Given the description of an element on the screen output the (x, y) to click on. 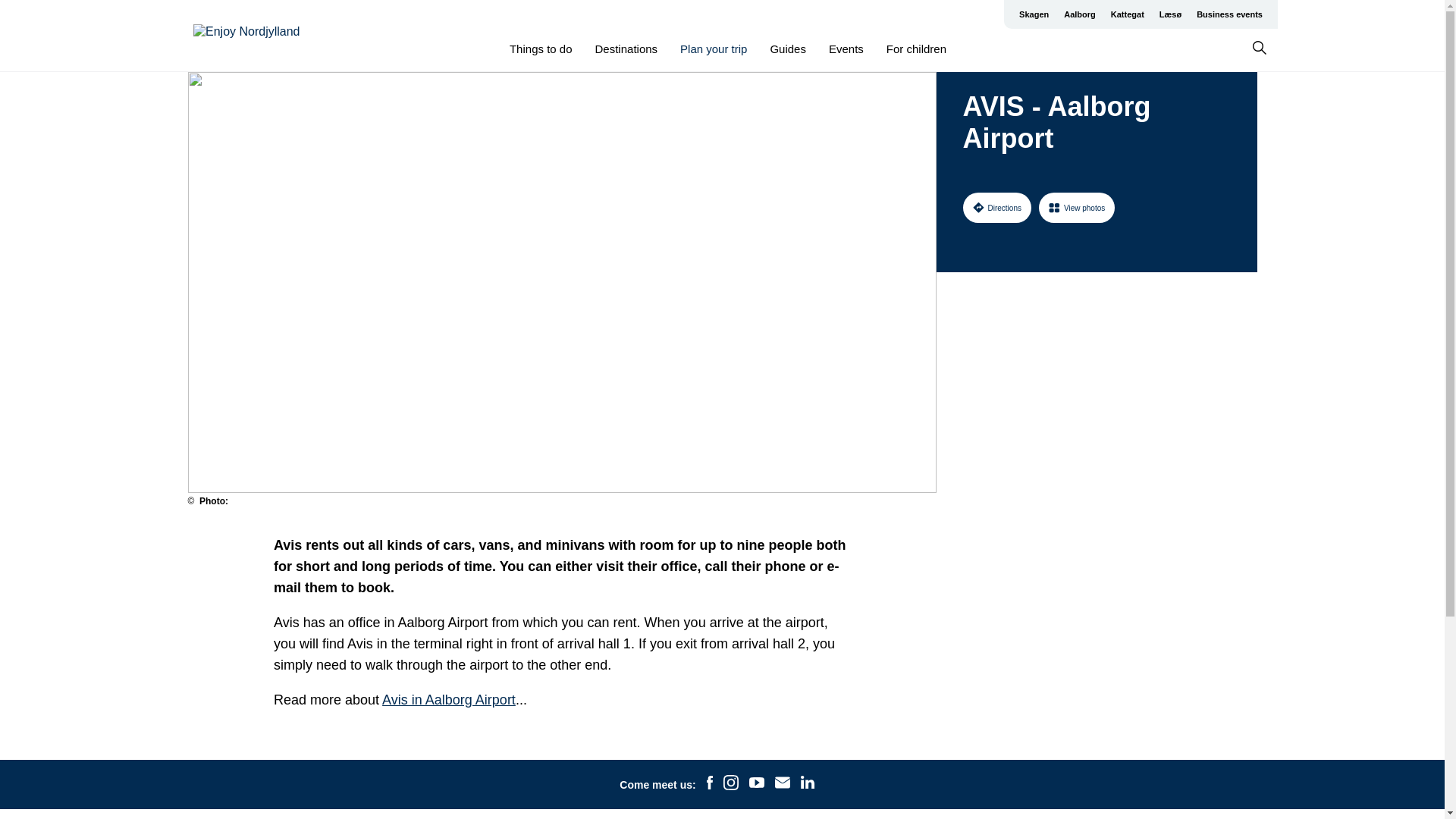
instagram (730, 784)
facebook (709, 784)
For children (916, 48)
Business events (1229, 14)
Events (845, 48)
Go to homepage (253, 35)
Aalborg (1080, 14)
Skagen (1034, 14)
newsletter (782, 784)
youtube (757, 784)
